Given the description of an element on the screen output the (x, y) to click on. 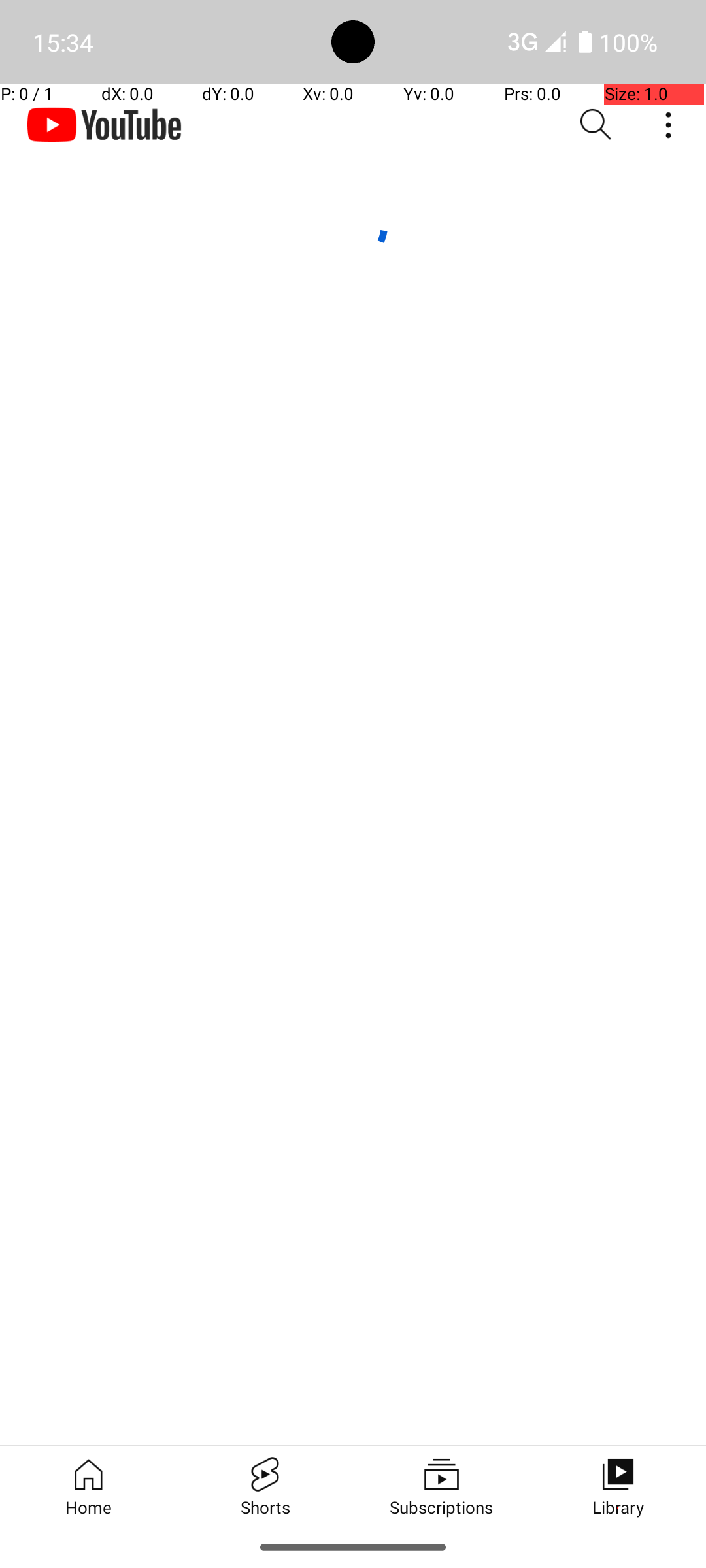
Shorts Element type: android.widget.Button (264, 1485)
Subscriptions Element type: android.widget.Button (441, 1485)
Library Element type: android.widget.Button (617, 1485)
